Given the description of an element on the screen output the (x, y) to click on. 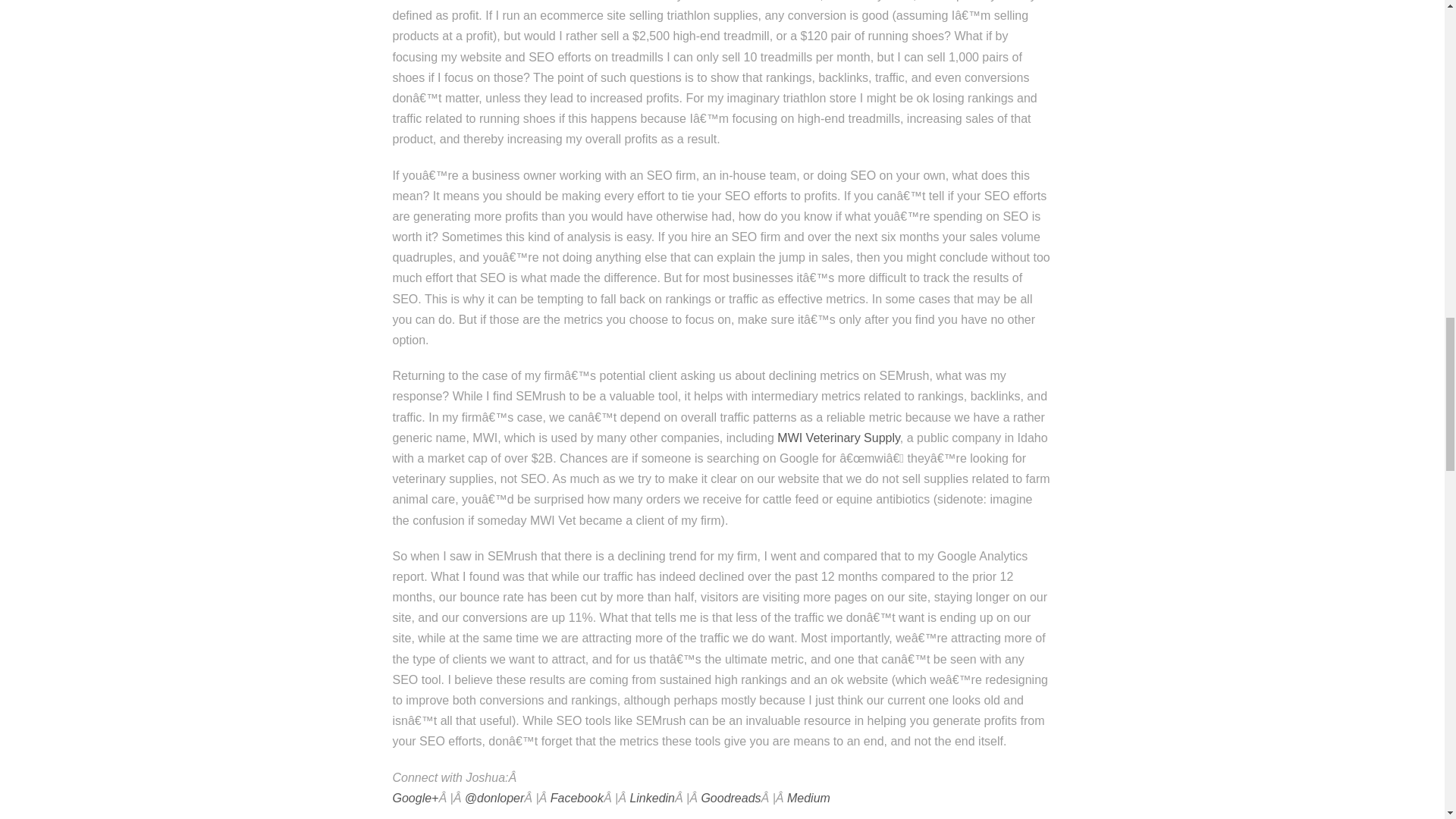
MWI Veterinary Supply (838, 437)
Facebook (577, 797)
Goodreads (730, 797)
Medium (808, 797)
Linkedin (651, 797)
